Given the description of an element on the screen output the (x, y) to click on. 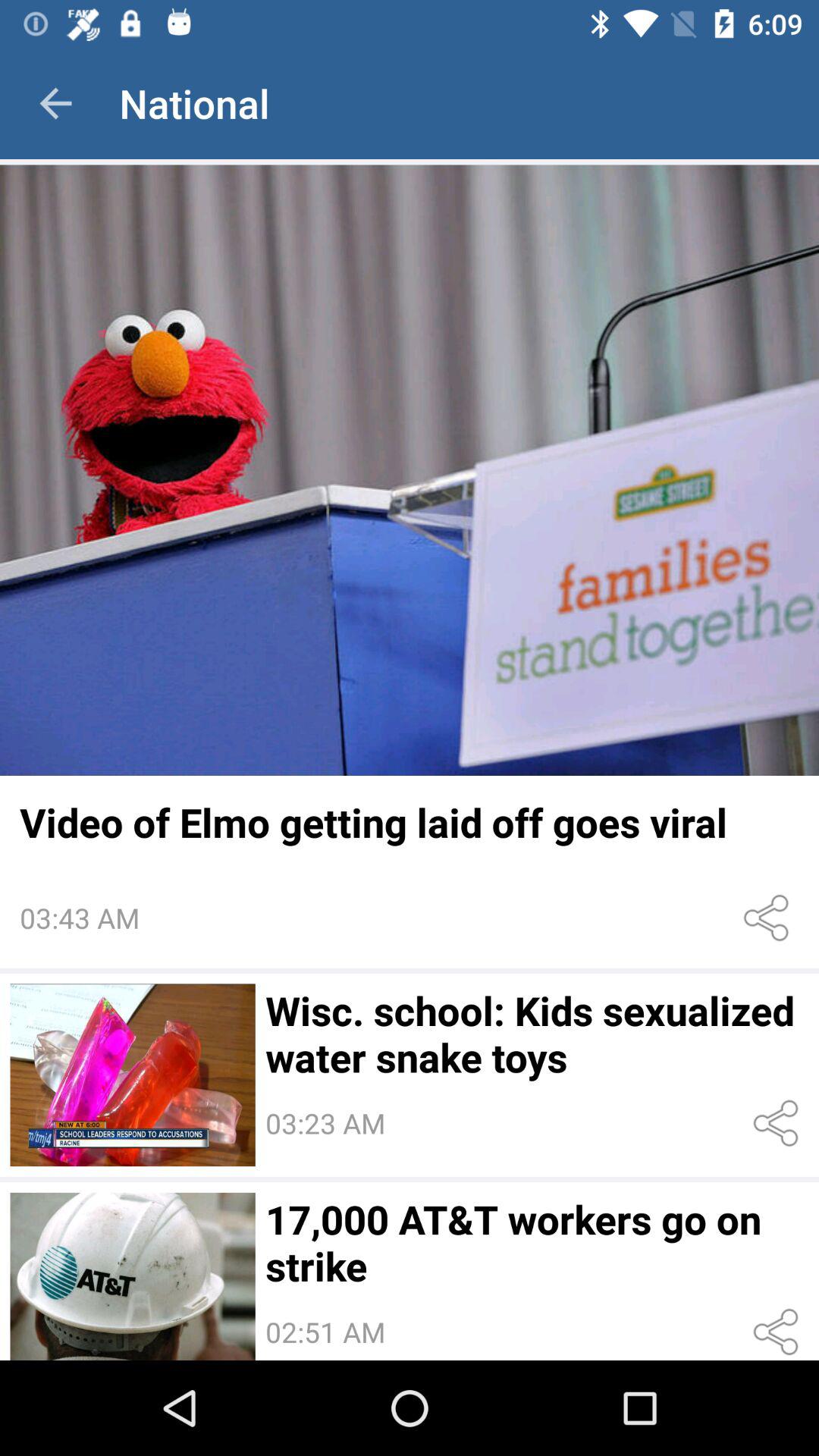
share this post (778, 1123)
